Given the description of an element on the screen output the (x, y) to click on. 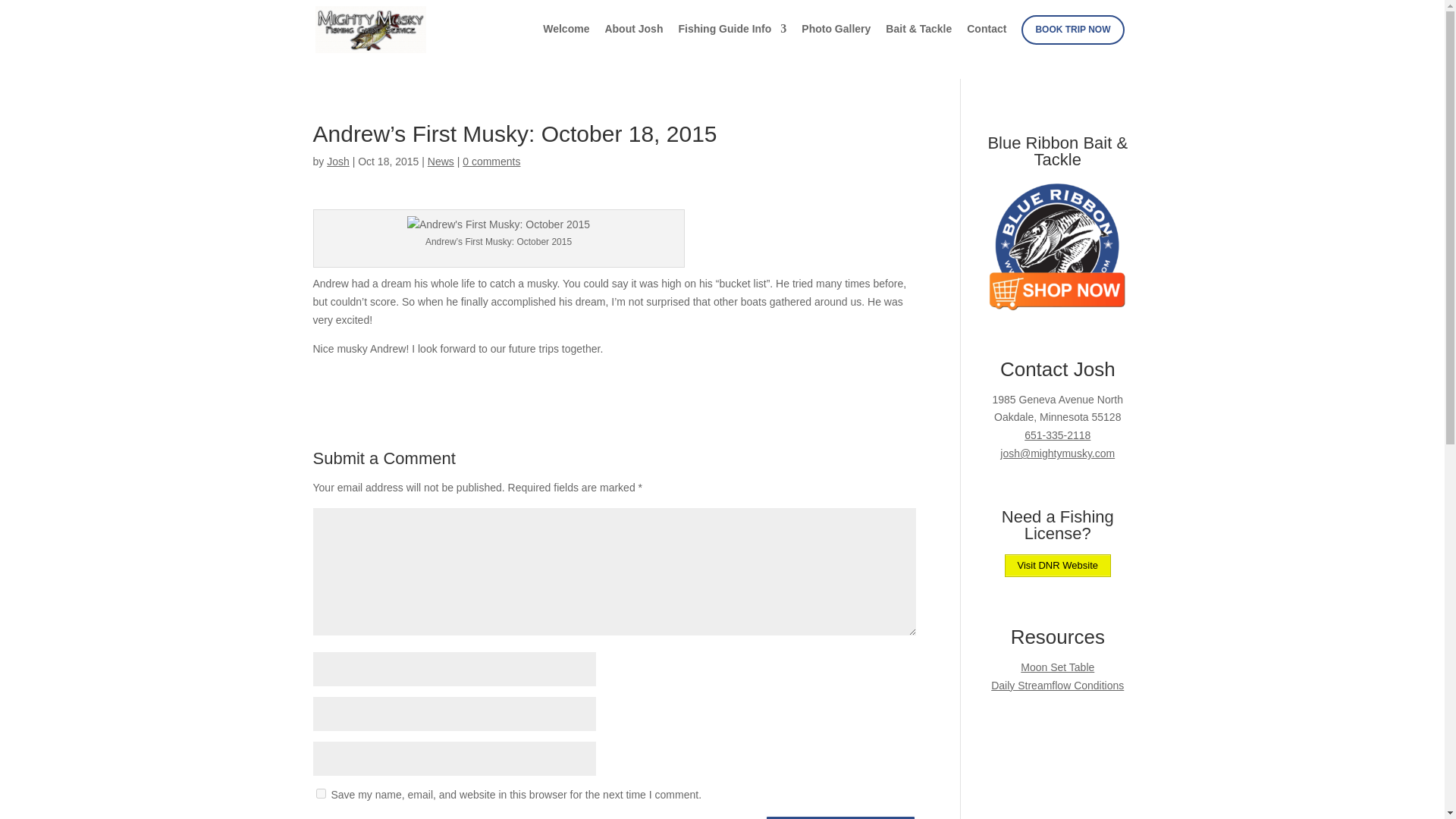
About Josh (633, 40)
News (441, 161)
Submit Comment (840, 816)
Welcome (566, 40)
Josh (337, 161)
0 comments (491, 161)
Contact (986, 40)
651-335-2118 (1057, 435)
Submit Comment (840, 816)
Posts by Josh (337, 161)
BOOK TRIP NOW (1073, 30)
Daily Streamflow Conditions (1057, 685)
Fishing Guide Info (732, 40)
Moon Set Table (1057, 666)
